Given the description of an element on the screen output the (x, y) to click on. 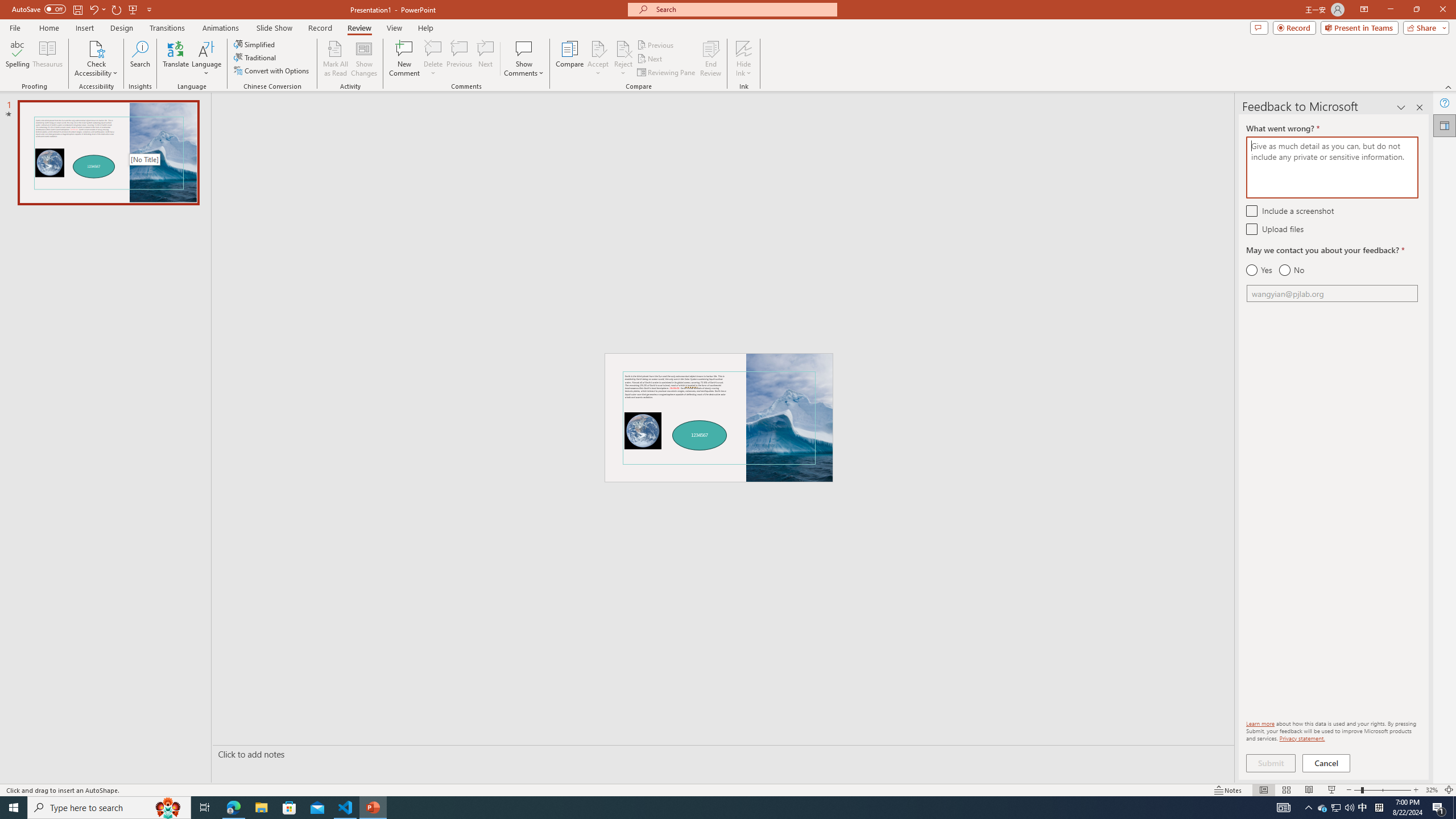
Accept (598, 58)
Learn more (1260, 723)
Show Comments (524, 48)
Reject Change (622, 48)
Language (206, 58)
